Given the description of an element on the screen output the (x, y) to click on. 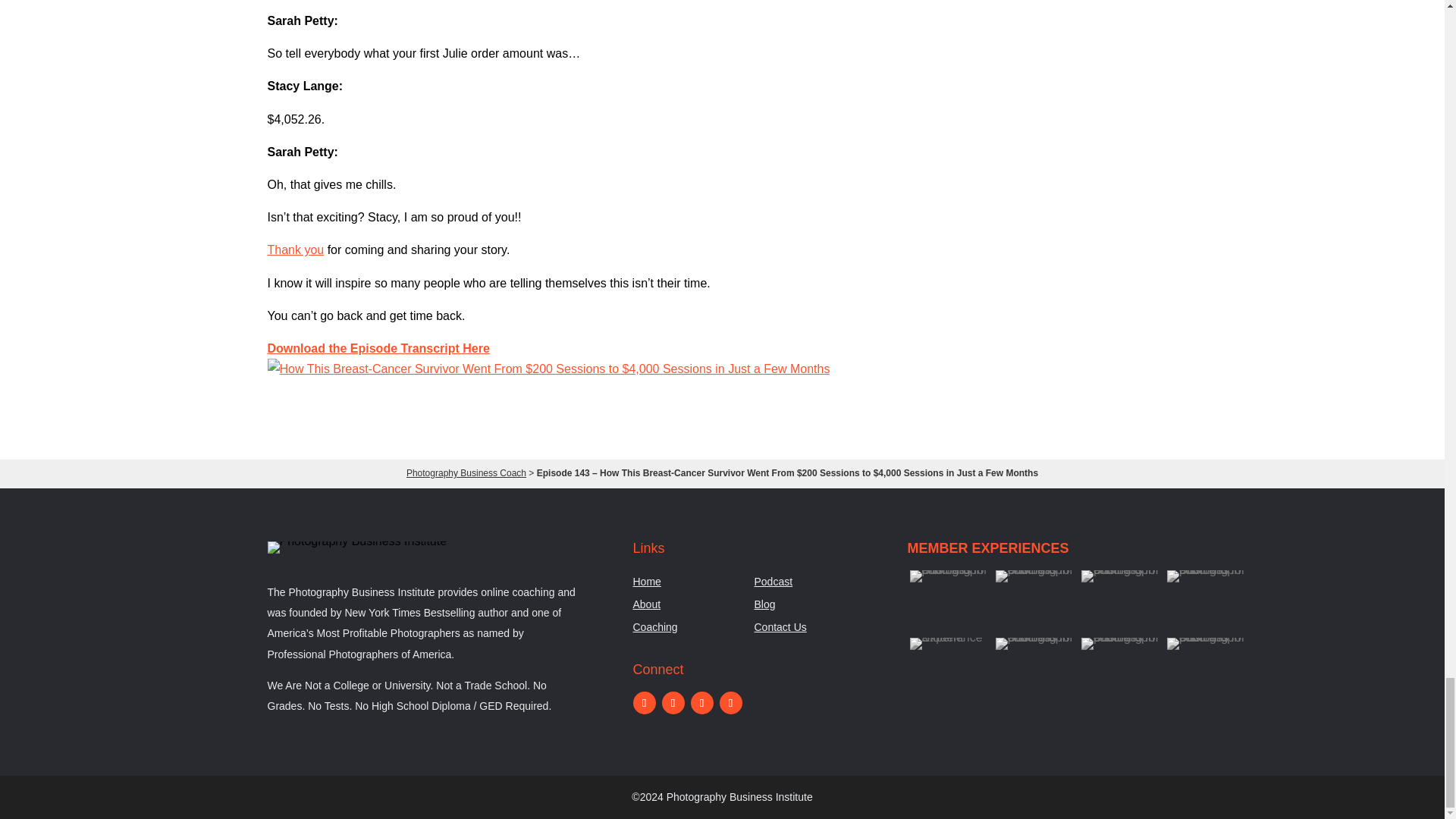
Thank you (294, 249)
Download the Episode Transcript Here (377, 348)
Thank you (294, 249)
